Given the description of an element on the screen output the (x, y) to click on. 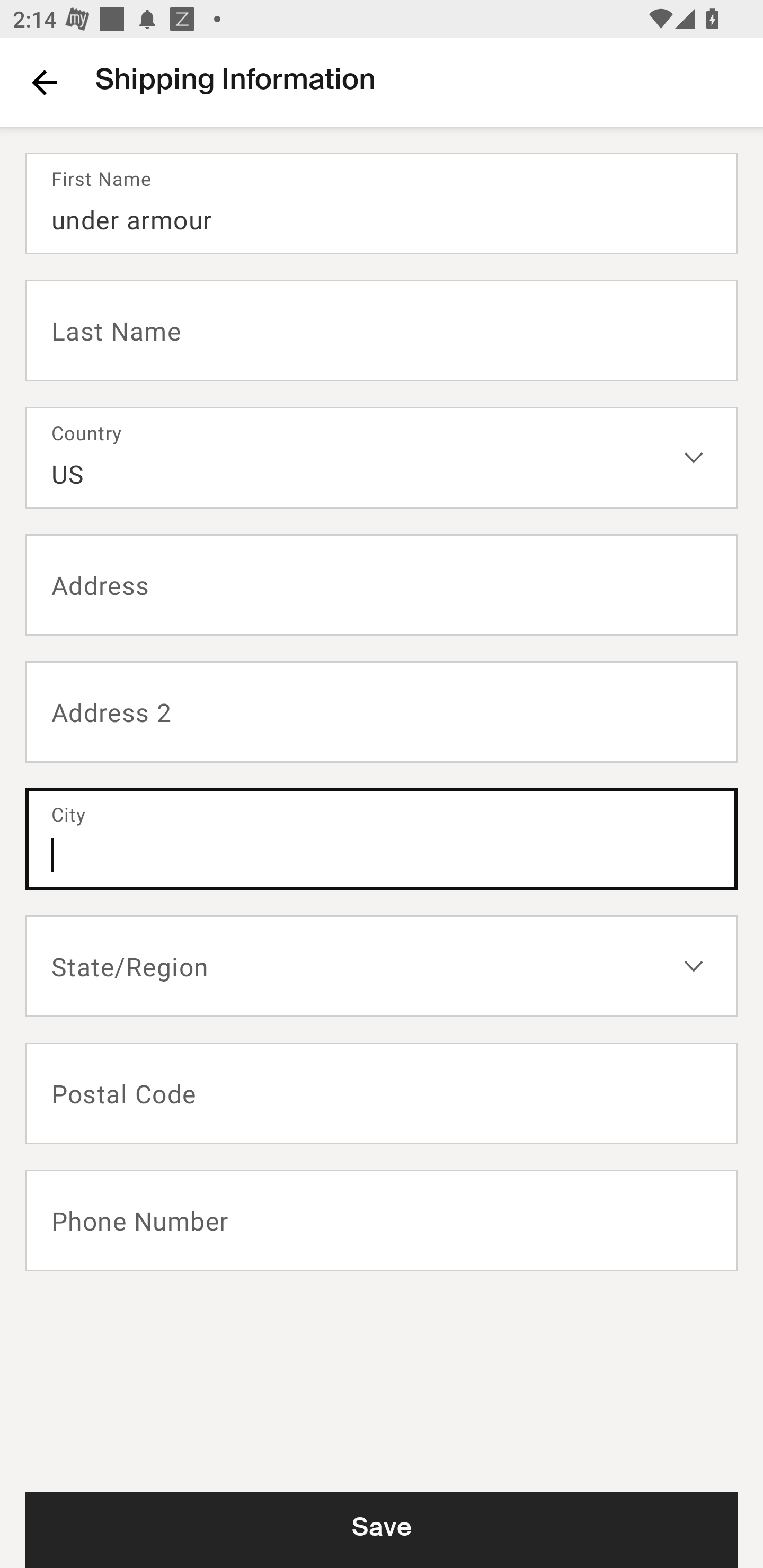
Navigate up (44, 82)
under armour
 First Name (381, 203)
Last Name (381, 330)
Address (381, 584)
Address 2 (381, 711)
City (381, 839)
Postal Code (381, 1093)
Phone Number (381, 1220)
Save (381, 1529)
